Given the description of an element on the screen output the (x, y) to click on. 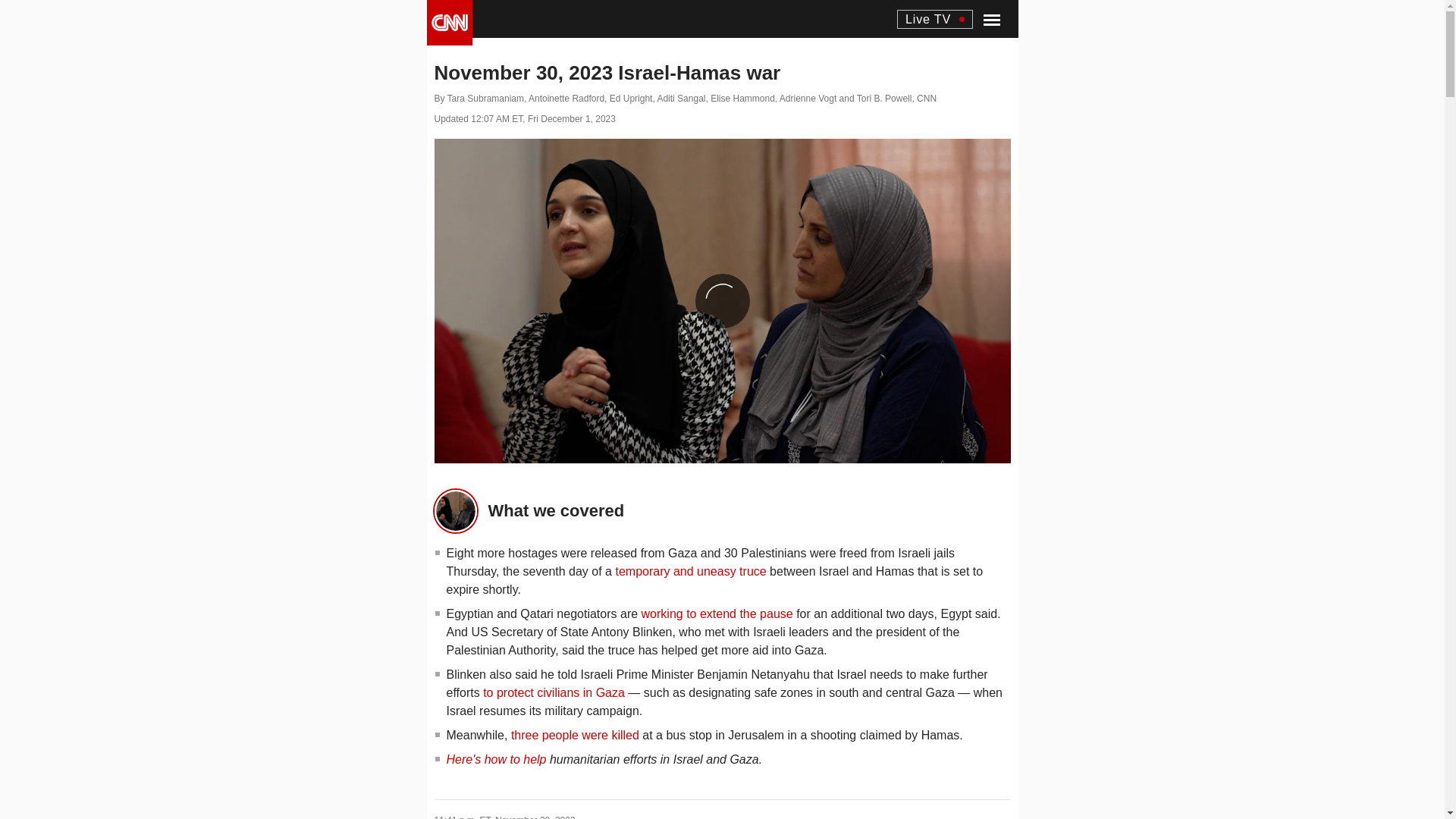
to protect civilians in Gaza (553, 691)
Live TV (934, 18)
three people were killed (575, 734)
Here's how to help (495, 758)
working to extend the pause (717, 612)
temporary and uneasy truce (689, 570)
